Given the description of an element on the screen output the (x, y) to click on. 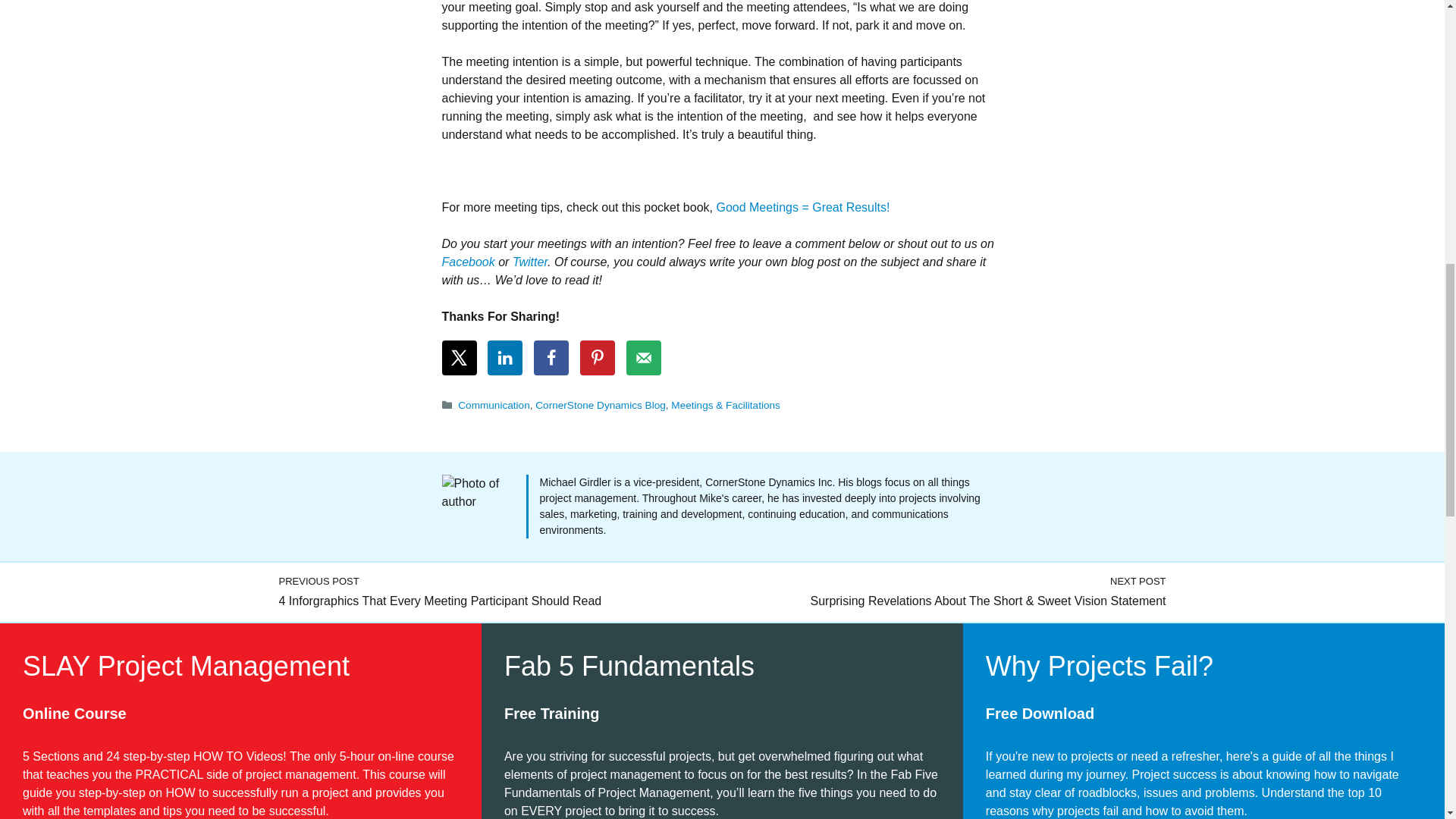
Share on LinkedIn (504, 357)
Share on X (458, 357)
Communication (493, 405)
Send over email (643, 357)
Scroll back to top (1406, 720)
Twitter (529, 261)
CornerStone Dynamics Blog (600, 405)
Save to Pinterest (596, 357)
Facebook (468, 261)
Share on Facebook (551, 357)
